Given the description of an element on the screen output the (x, y) to click on. 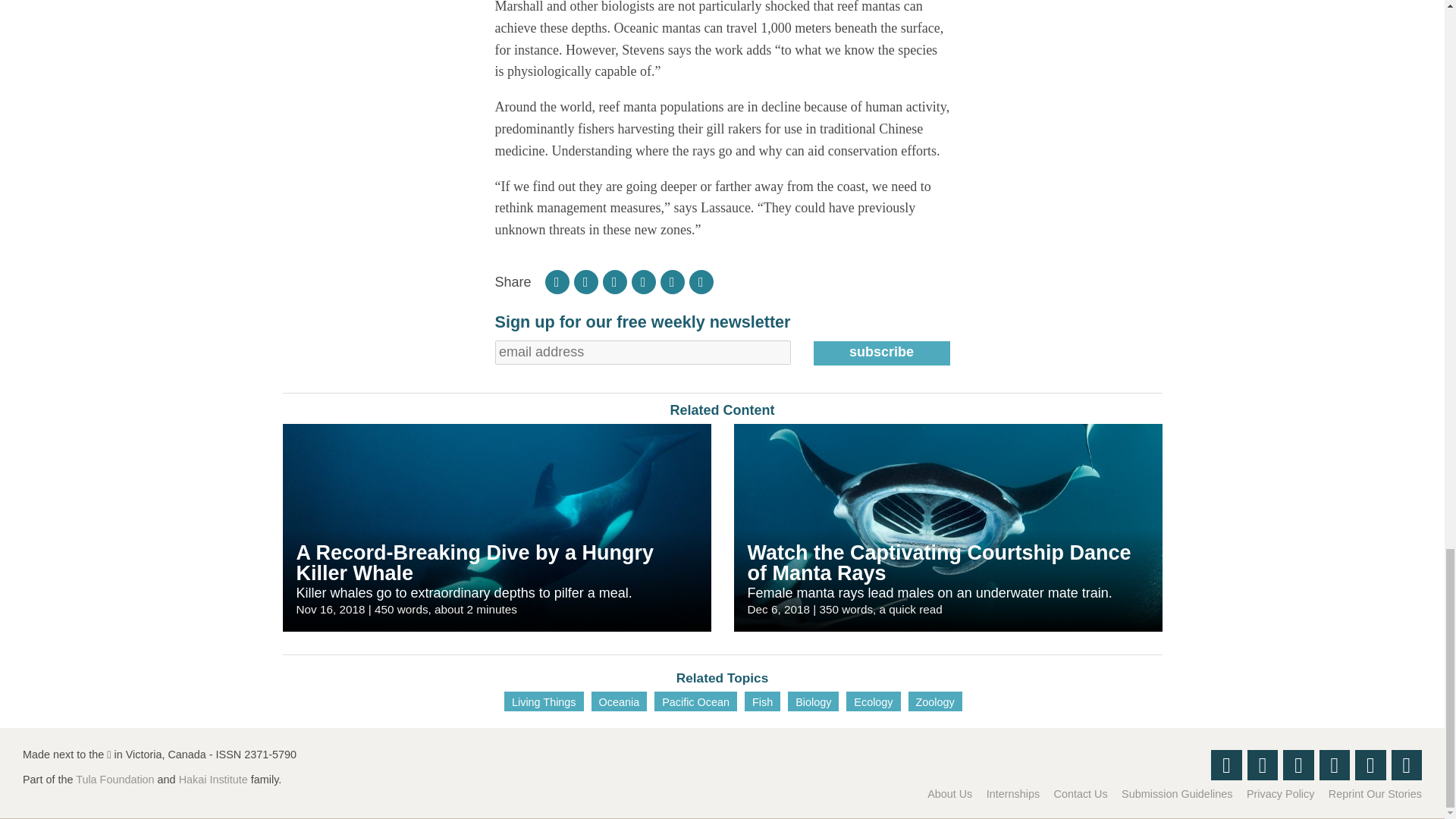
Share by Email (700, 282)
Share on Twitter (614, 282)
Share on Mastodon (672, 282)
Share on Flipboard (556, 282)
Share on Pocket (643, 282)
Share on Facebook (585, 282)
